Given the description of an element on the screen output the (x, y) to click on. 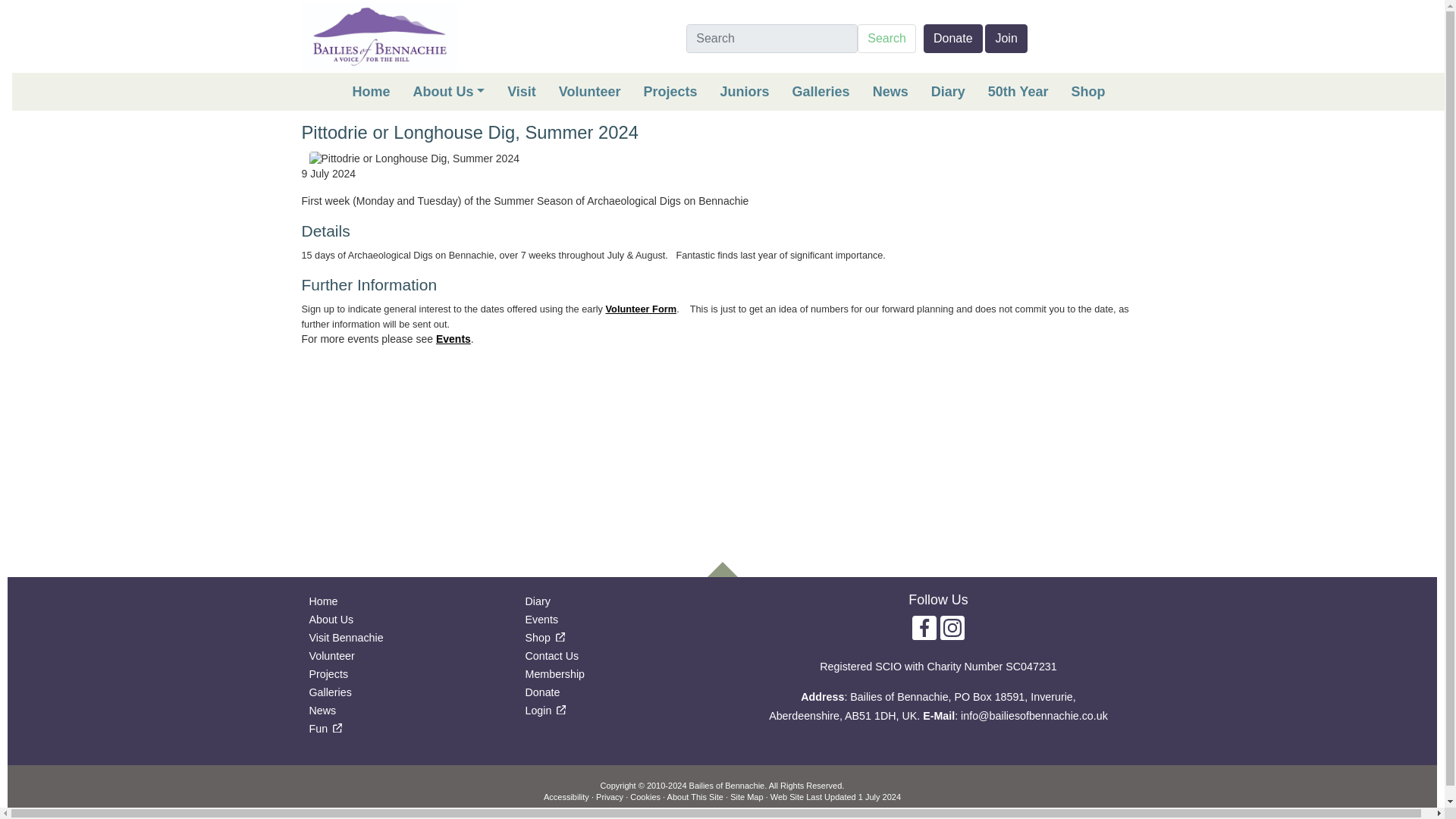
Diary (948, 91)
Shop (1087, 91)
Join (1005, 38)
Facebook (924, 626)
Volunteer (590, 91)
Search (751, 90)
About Us (448, 91)
Juniors (745, 91)
Projects (670, 91)
Events (751, 90)
Galleries (821, 91)
50th Year (1018, 91)
Donate (952, 38)
Home (371, 91)
